Given the description of an element on the screen output the (x, y) to click on. 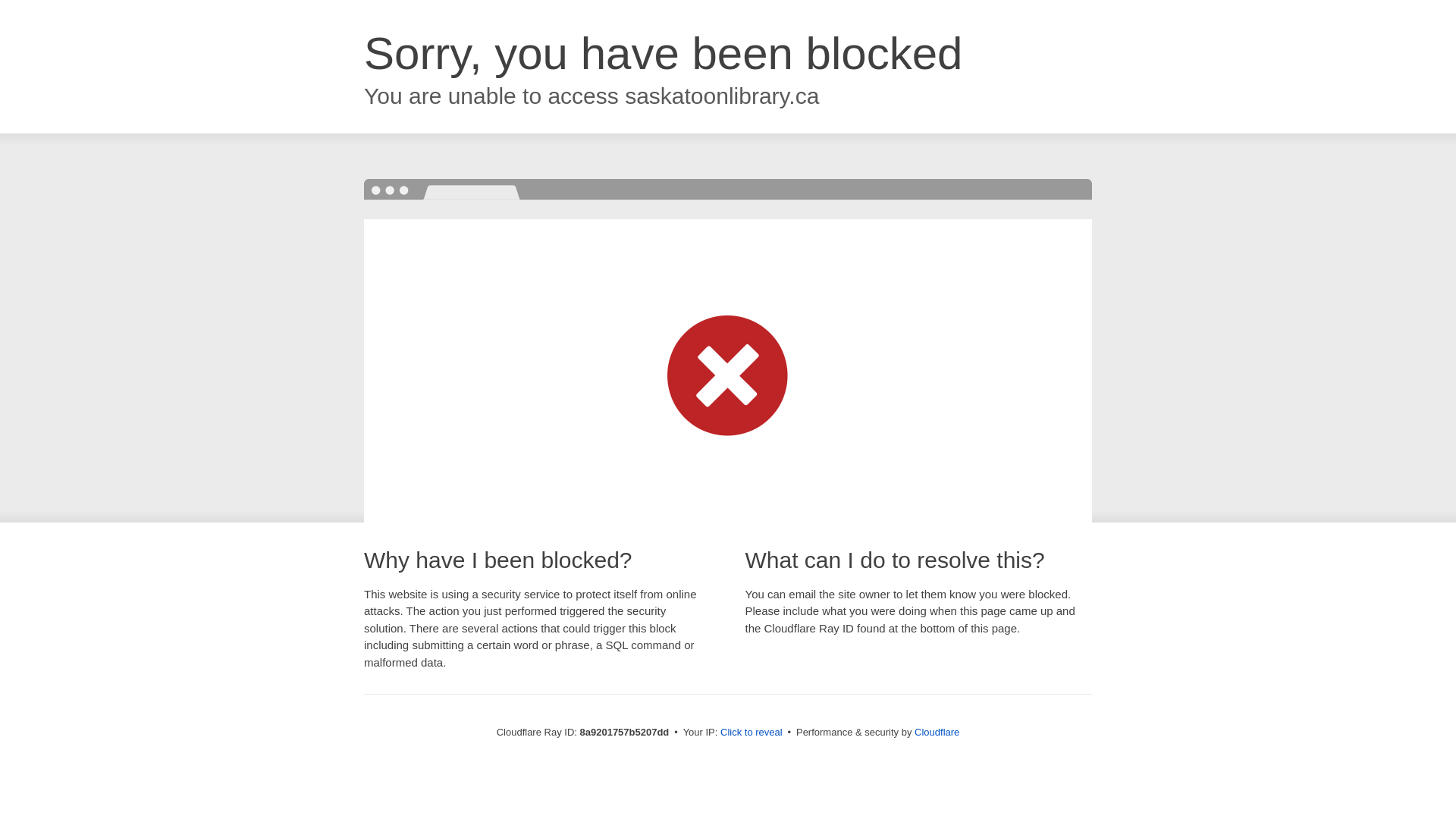
Click to reveal (751, 732)
Cloudflare (936, 731)
